Given the description of an element on the screen output the (x, y) to click on. 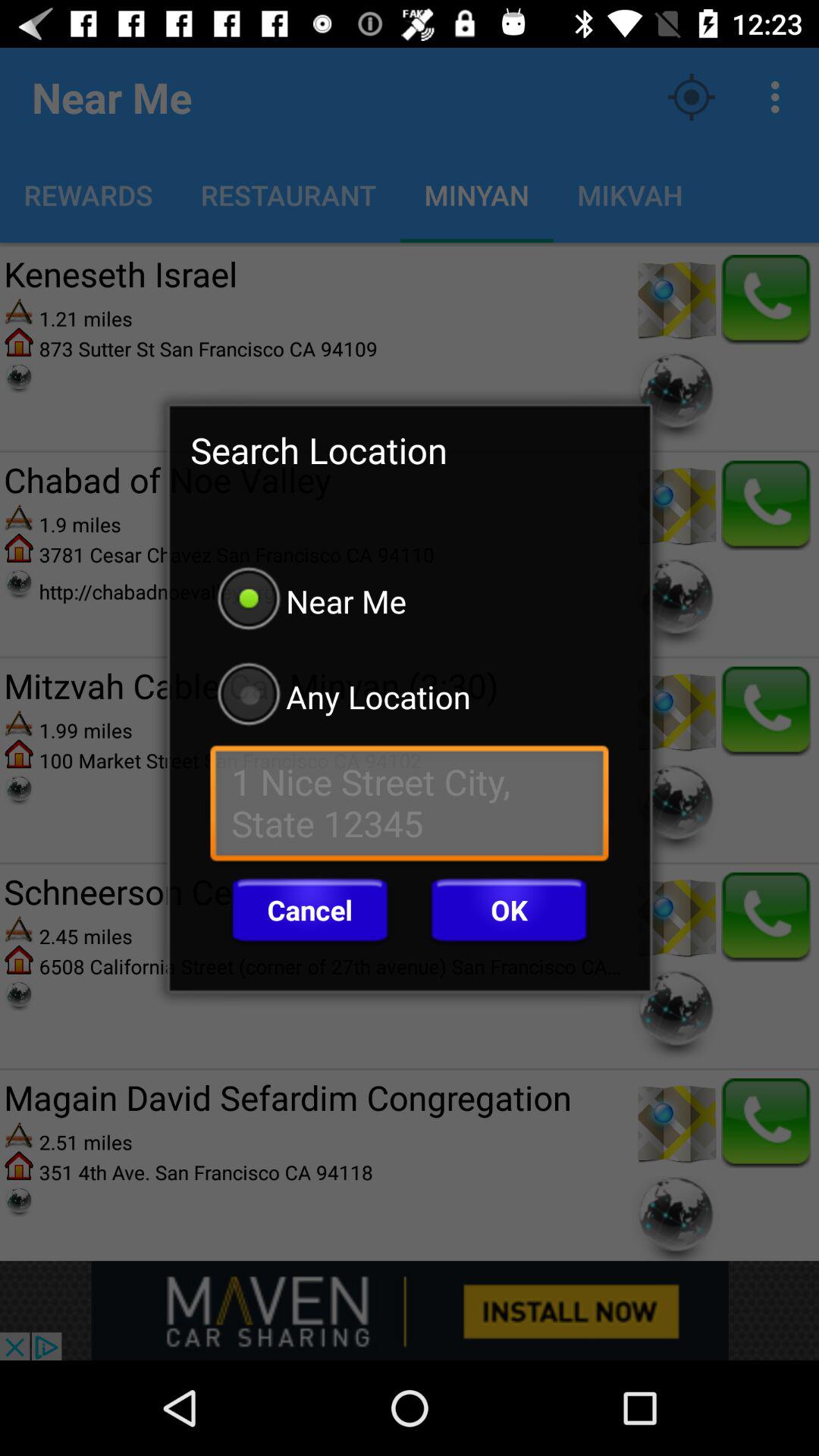
enter address (409, 807)
